Given the description of an element on the screen output the (x, y) to click on. 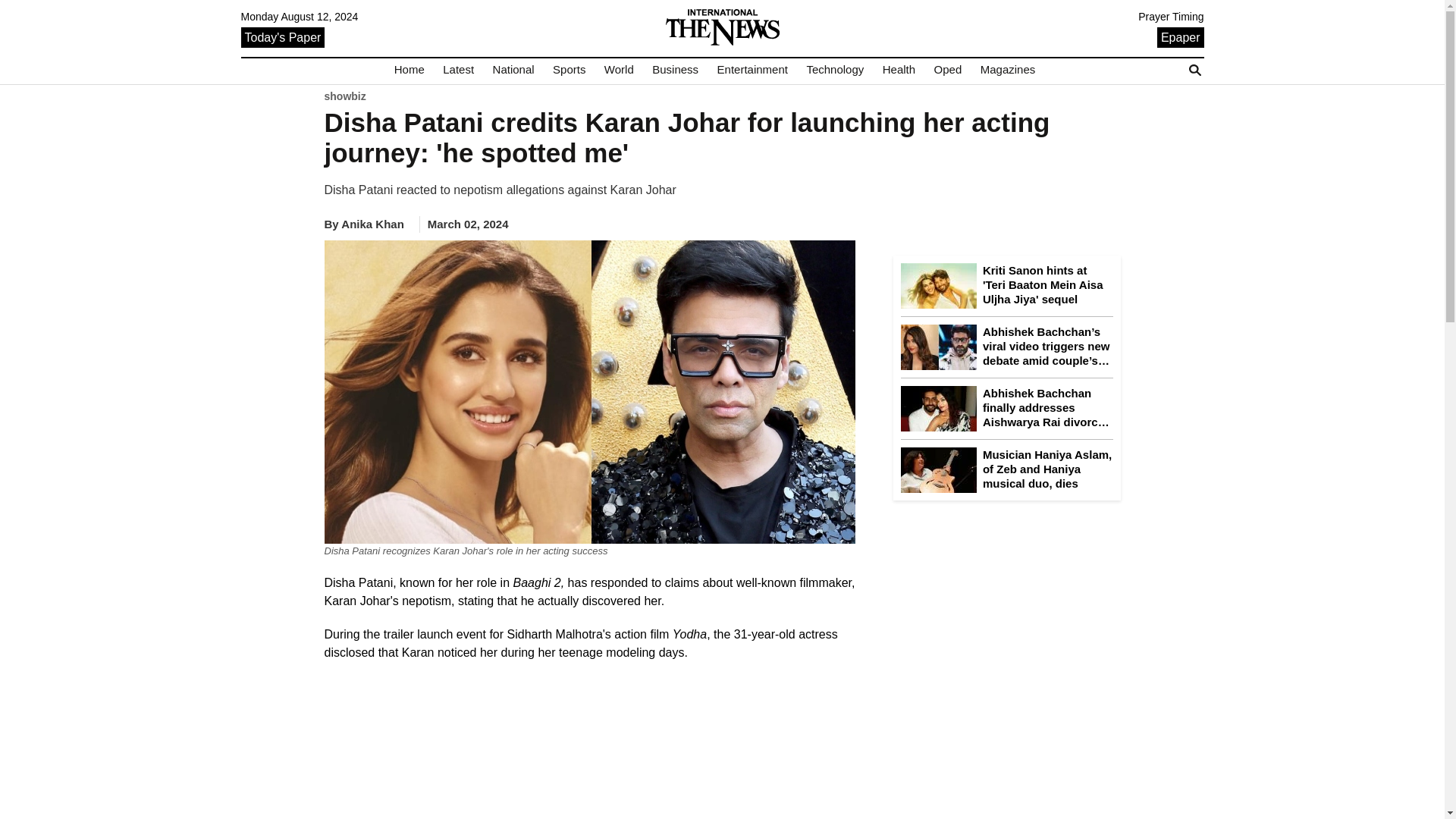
Home (409, 69)
Prayer Timing (1171, 16)
Business (675, 69)
Technology (833, 69)
Health (899, 69)
World (619, 69)
Epaper (1180, 37)
Today's Paper (282, 37)
Sports (568, 69)
National (512, 69)
